Given the description of an element on the screen output the (x, y) to click on. 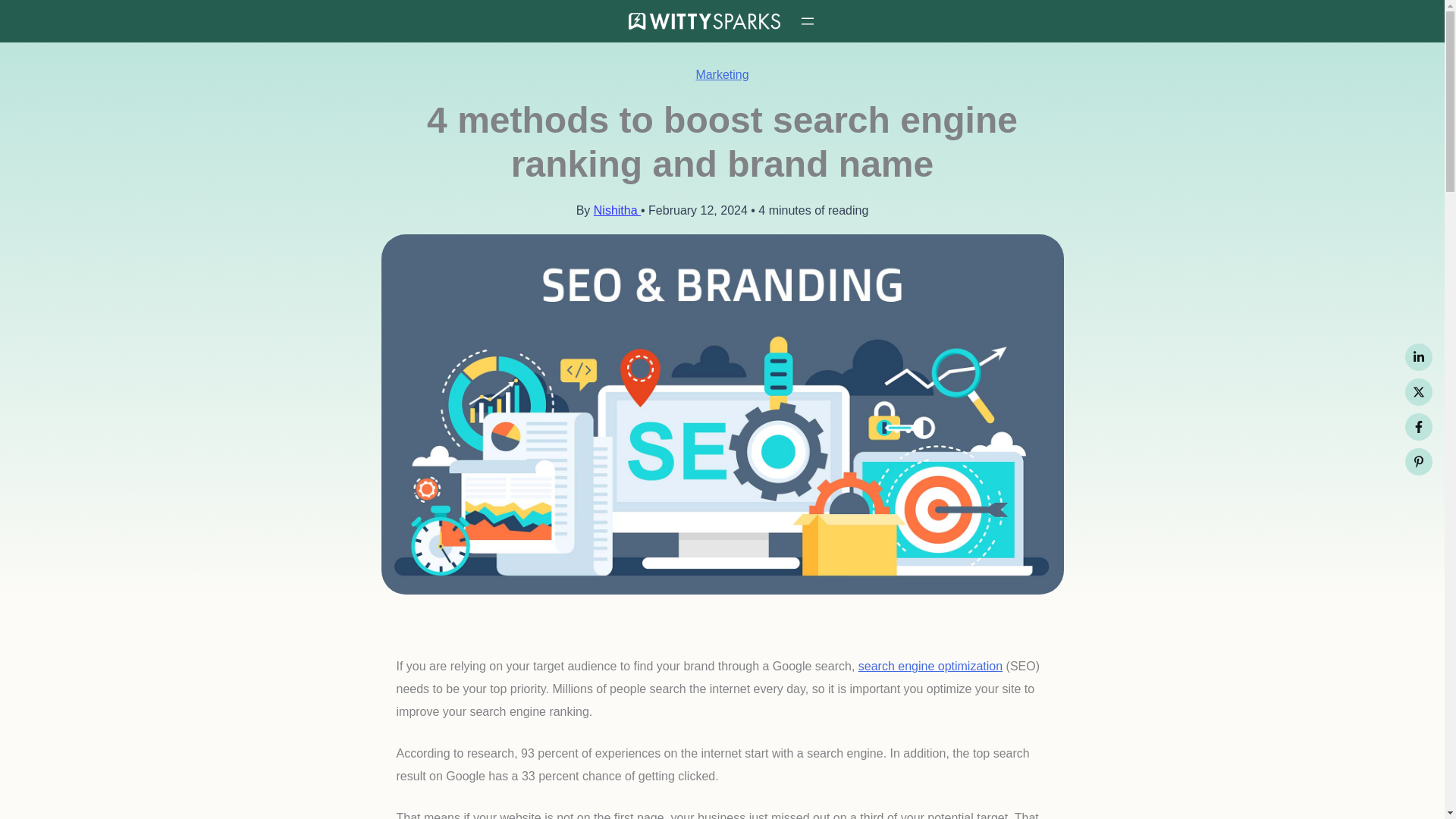
Nishitha (617, 210)
search engine optimization (931, 666)
View all posts by Nishitha (617, 210)
Marketing (721, 74)
